Given the description of an element on the screen output the (x, y) to click on. 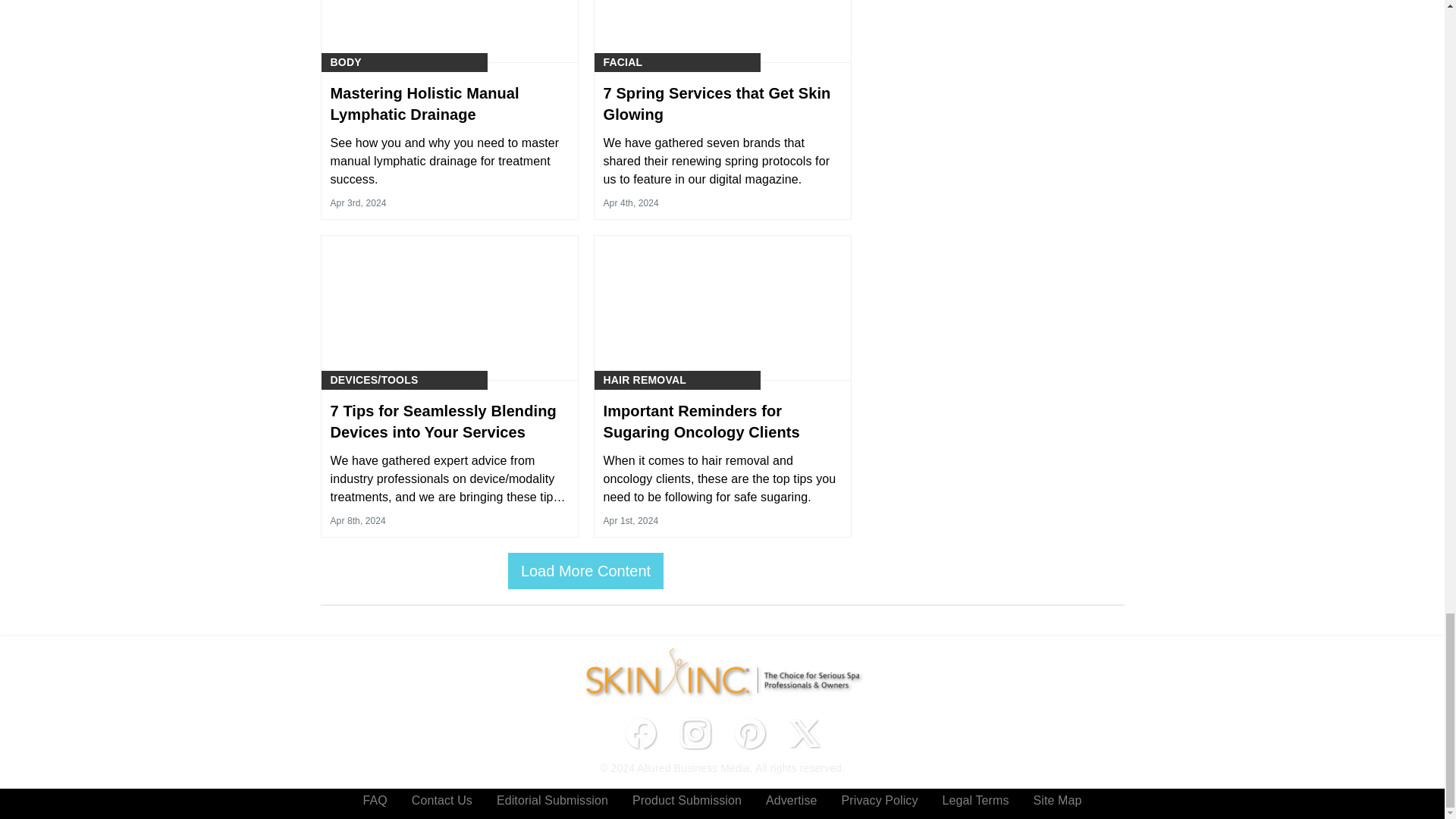
Twitter X icon (803, 733)
Instagram icon (694, 733)
Pinterest icon (748, 733)
Facebook icon (639, 733)
